Given the description of an element on the screen output the (x, y) to click on. 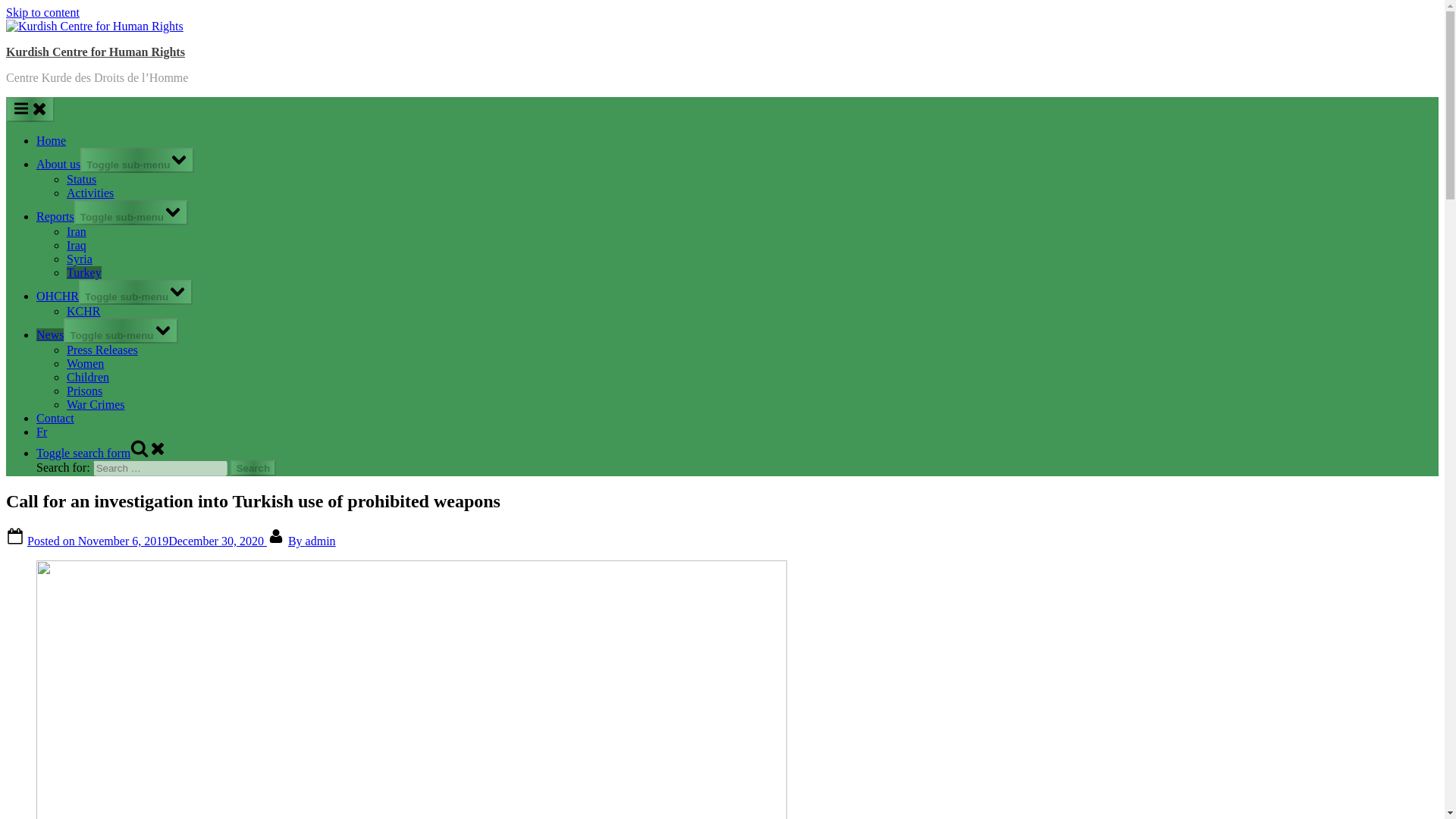
Posted on November 6, 2019December 30, 2020 (146, 540)
Home (50, 140)
Press Releases (102, 349)
Contact (55, 418)
Women (84, 363)
Prisons (83, 390)
KCHR (83, 310)
Kurdish Centre for Human Rights (94, 51)
About us (58, 164)
Syria (79, 258)
Skip to content (42, 11)
Search (253, 467)
Toggle sub-menu (136, 160)
Toggle sub-menu (120, 330)
News (50, 334)
